Given the description of an element on the screen output the (x, y) to click on. 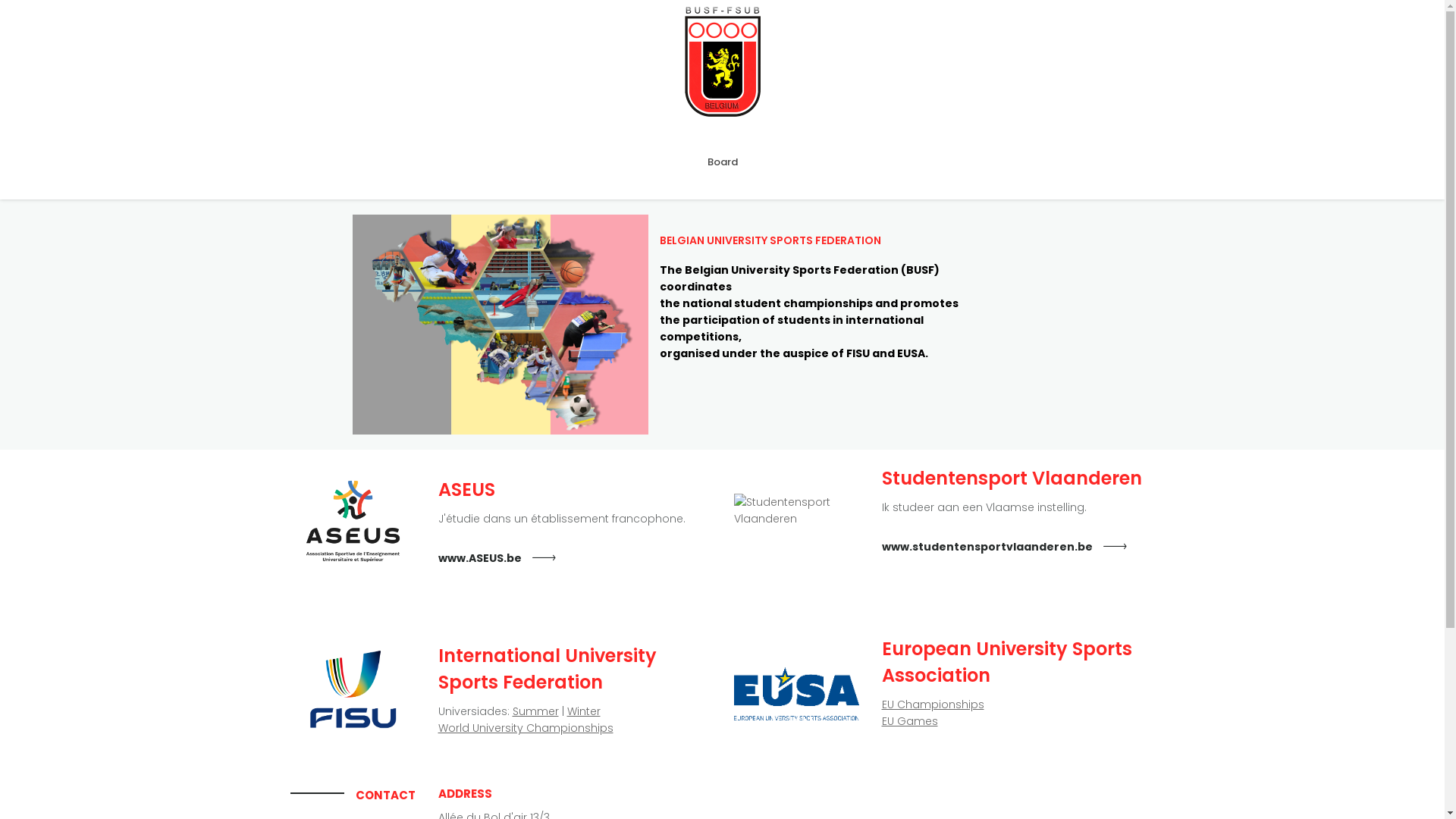
World University Championships Element type: text (525, 727)
www.studentensportvlaanderen.be Element type: text (986, 546)
Board Element type: text (722, 161)
EU Games Element type: text (909, 720)
Winter Element type: text (583, 710)
Summer Element type: text (535, 710)
EU Championships Element type: text (932, 704)
www.ASEUS.be Element type: text (479, 557)
